Given the description of an element on the screen output the (x, y) to click on. 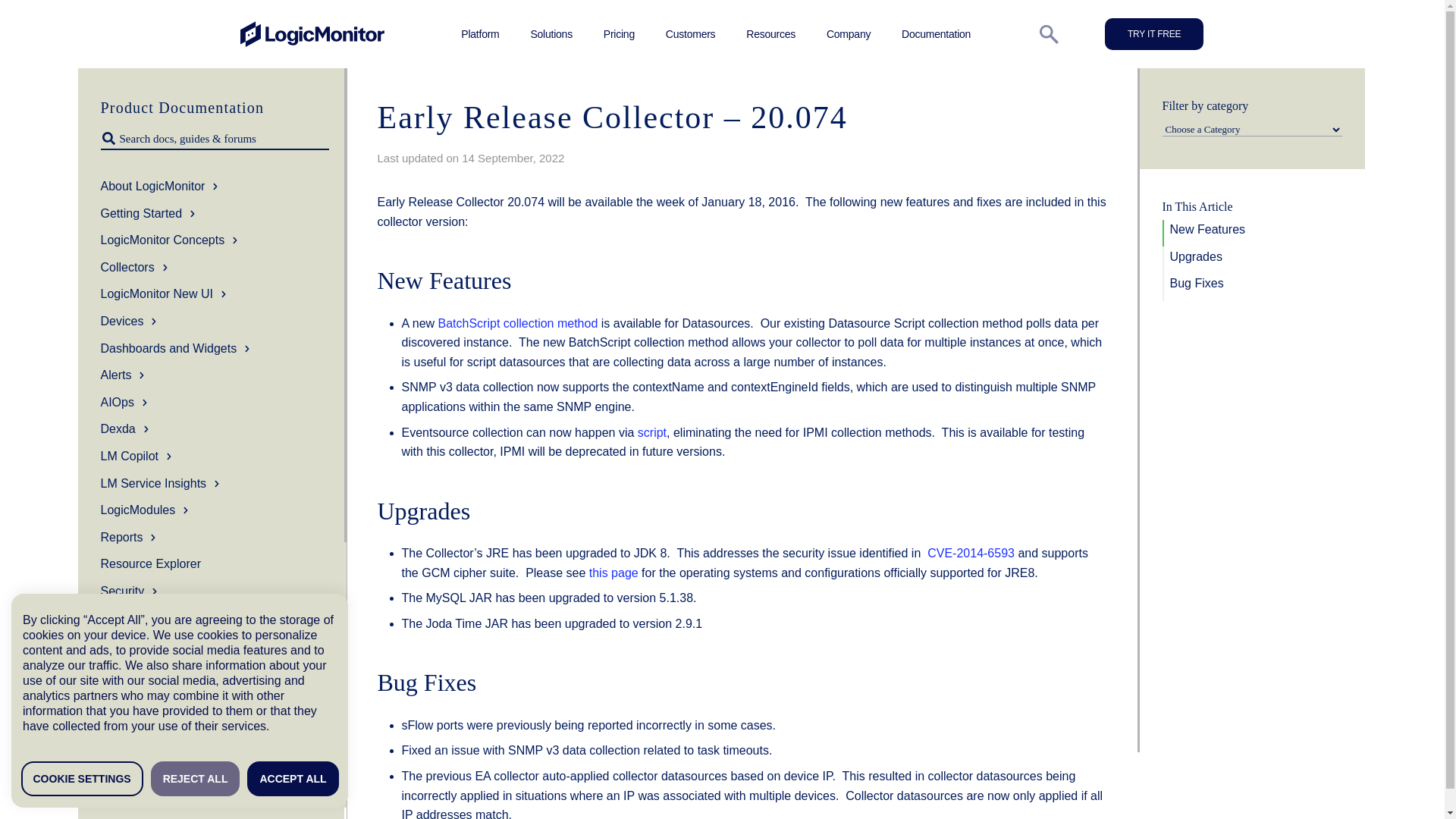
Solutions (550, 33)
Customers (690, 33)
Pricing (619, 33)
Company (848, 33)
Documentation (936, 33)
TRY IT FREE (1154, 33)
Resources (769, 33)
Platform (480, 33)
